Given the description of an element on the screen output the (x, y) to click on. 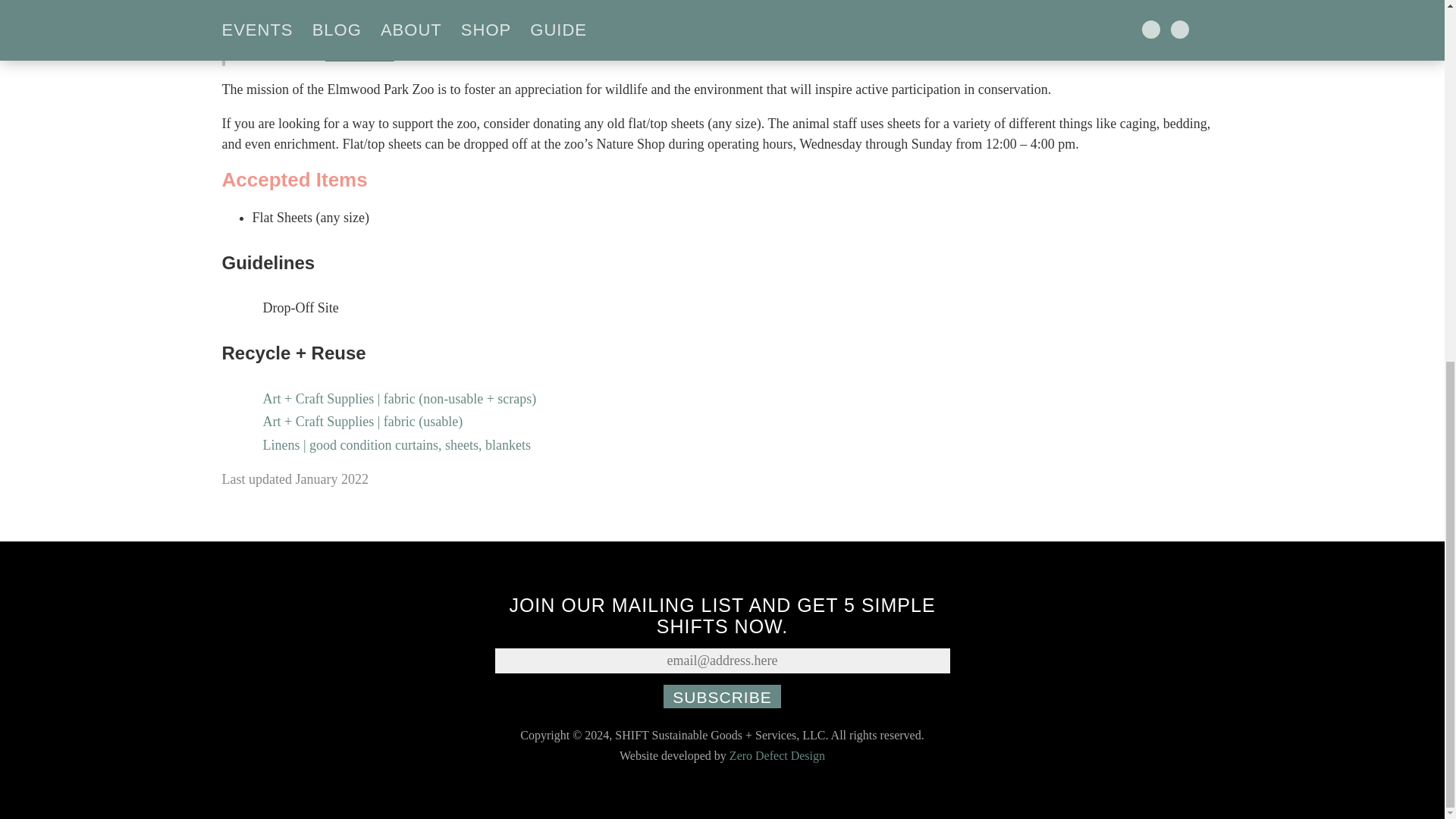
Subscribe (721, 696)
Zero Defect Design (777, 755)
Subscribe (721, 696)
visit website (359, 55)
